Given the description of an element on the screen output the (x, y) to click on. 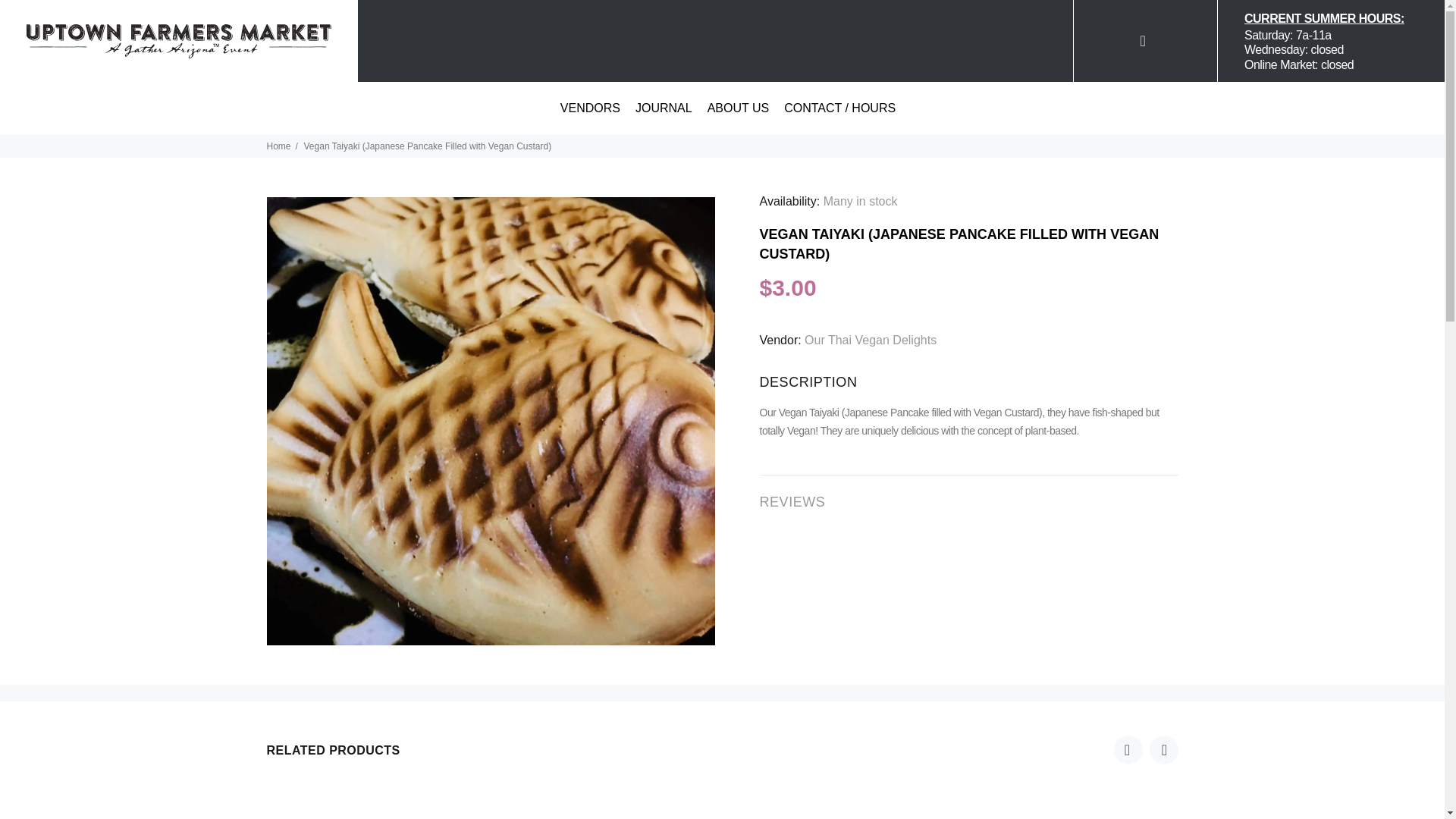
JOURNAL (663, 25)
ABOUT US (738, 25)
VENDORS (590, 25)
